Given the description of an element on the screen output the (x, y) to click on. 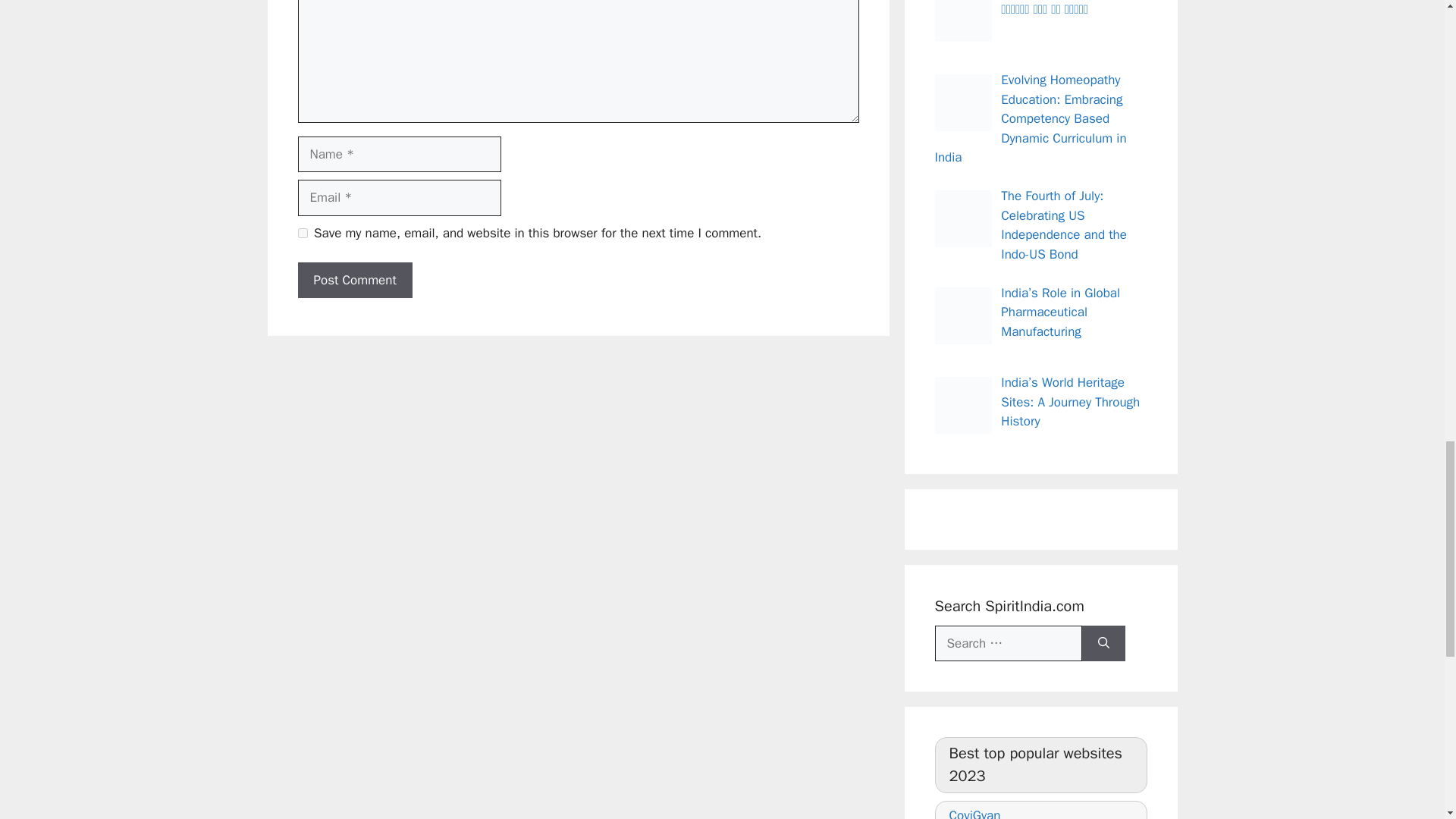
Post Comment (354, 280)
Post Comment (354, 280)
Search for: (1007, 643)
yes (302, 233)
